Given the description of an element on the screen output the (x, y) to click on. 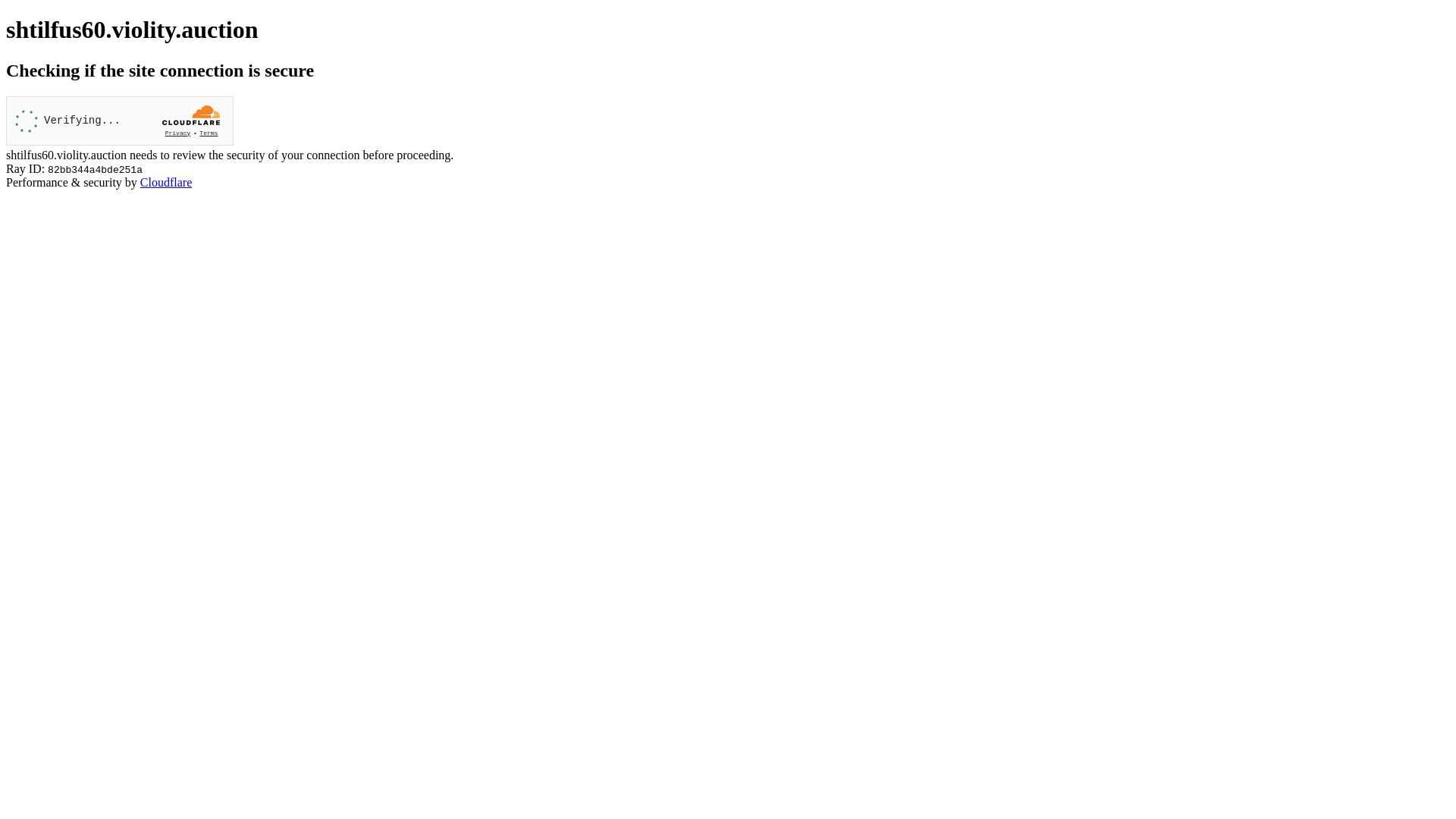
Cloudflare Element type: text (165, 181)
Widget containing a Cloudflare security challenge Element type: hover (119, 120)
